Given the description of an element on the screen output the (x, y) to click on. 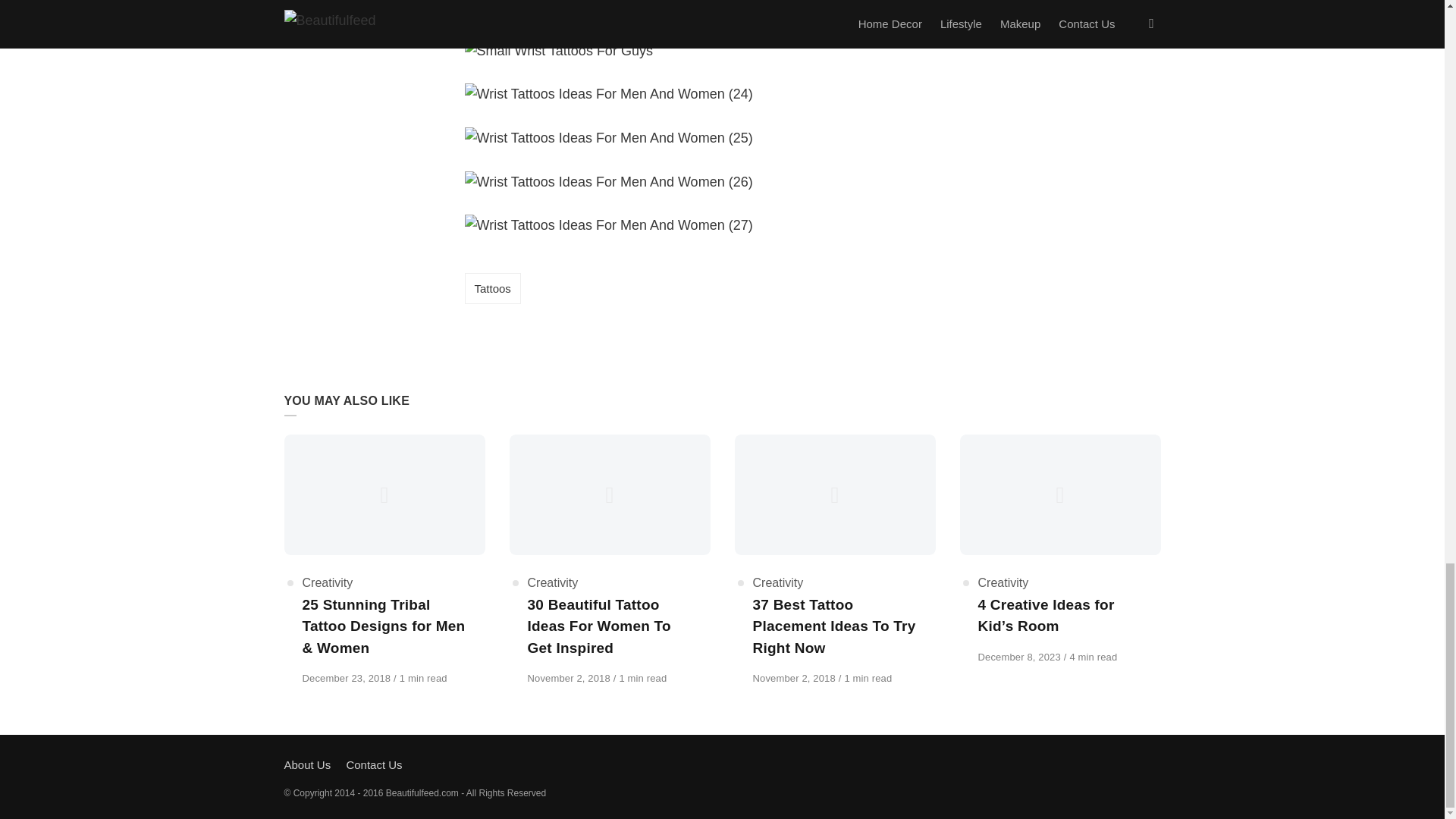
Contact Us (373, 764)
December 23, 2018 (347, 677)
Creativity (326, 582)
About Us (306, 764)
December 8, 2023 (1021, 656)
December 8, 2023 (1021, 656)
November 2, 2018 (569, 677)
December 23, 2018 (347, 677)
Creativity (1003, 582)
Creativity (777, 582)
November 2, 2018 (795, 677)
Tattoos (491, 287)
Creativity (552, 582)
November 2, 2018 (795, 677)
November 2, 2018 (569, 677)
